Given the description of an element on the screen output the (x, y) to click on. 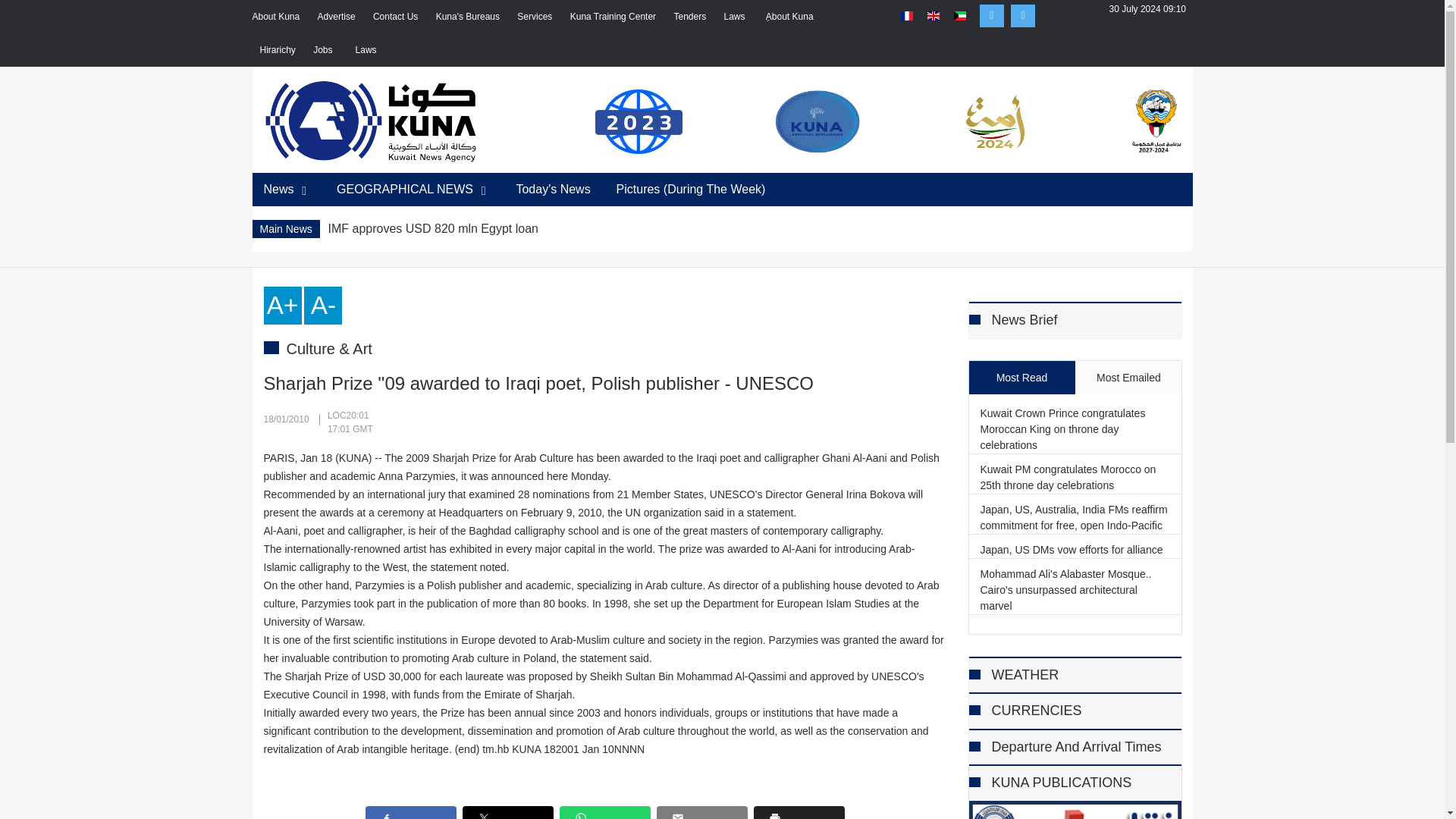
Laws (367, 49)
English (932, 15)
Hirarichy (277, 49)
Services (533, 16)
Jobs (325, 49)
Kuna Training Center (613, 16)
Advertise (336, 16)
Laws (735, 16)
Kuna'S Bureaus (467, 16)
Contact Us (394, 16)
Tenders (689, 16)
About Kuna (275, 16)
News (286, 189)
